Given the description of an element on the screen output the (x, y) to click on. 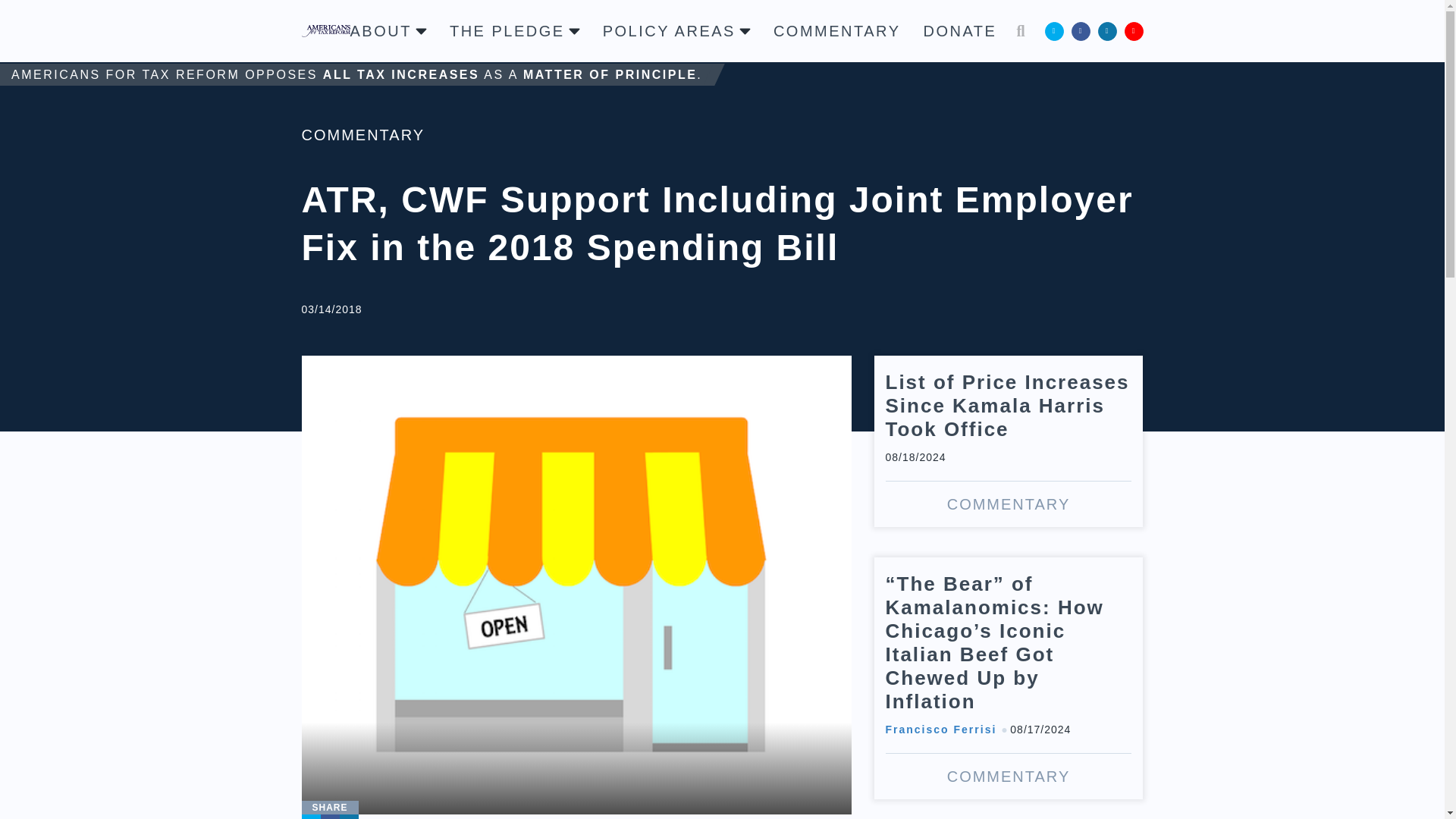
LinkedIn (1106, 30)
Twitter (1054, 30)
Facebook (329, 816)
COMMENTARY (363, 134)
YouTube (1133, 30)
DONATE (960, 30)
THE PLEDGE (514, 30)
COMMENTARY (837, 30)
Twitter (310, 816)
POLICY AREAS (676, 30)
